Given the description of an element on the screen output the (x, y) to click on. 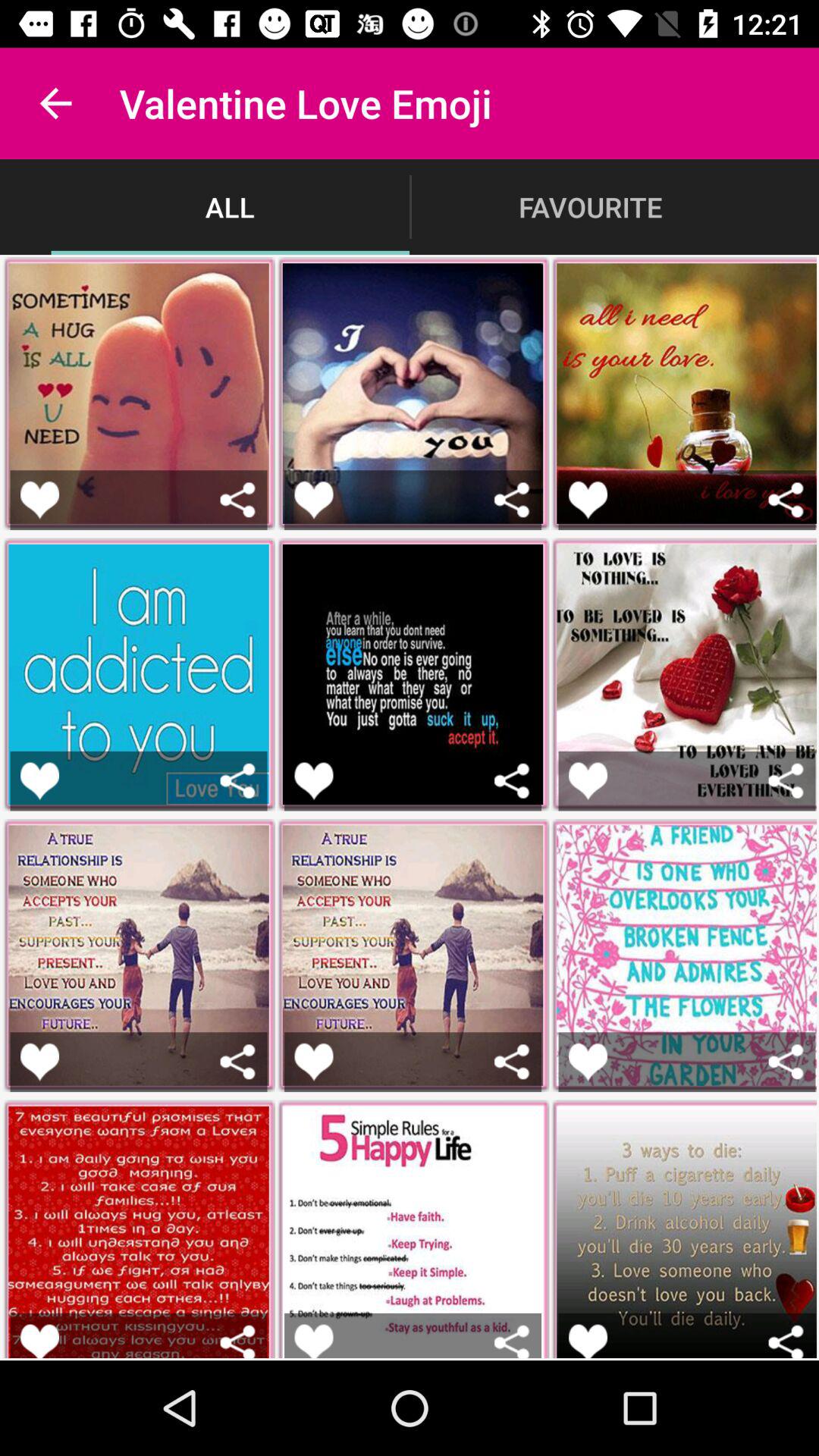
like the post (39, 780)
